Given the description of an element on the screen output the (x, y) to click on. 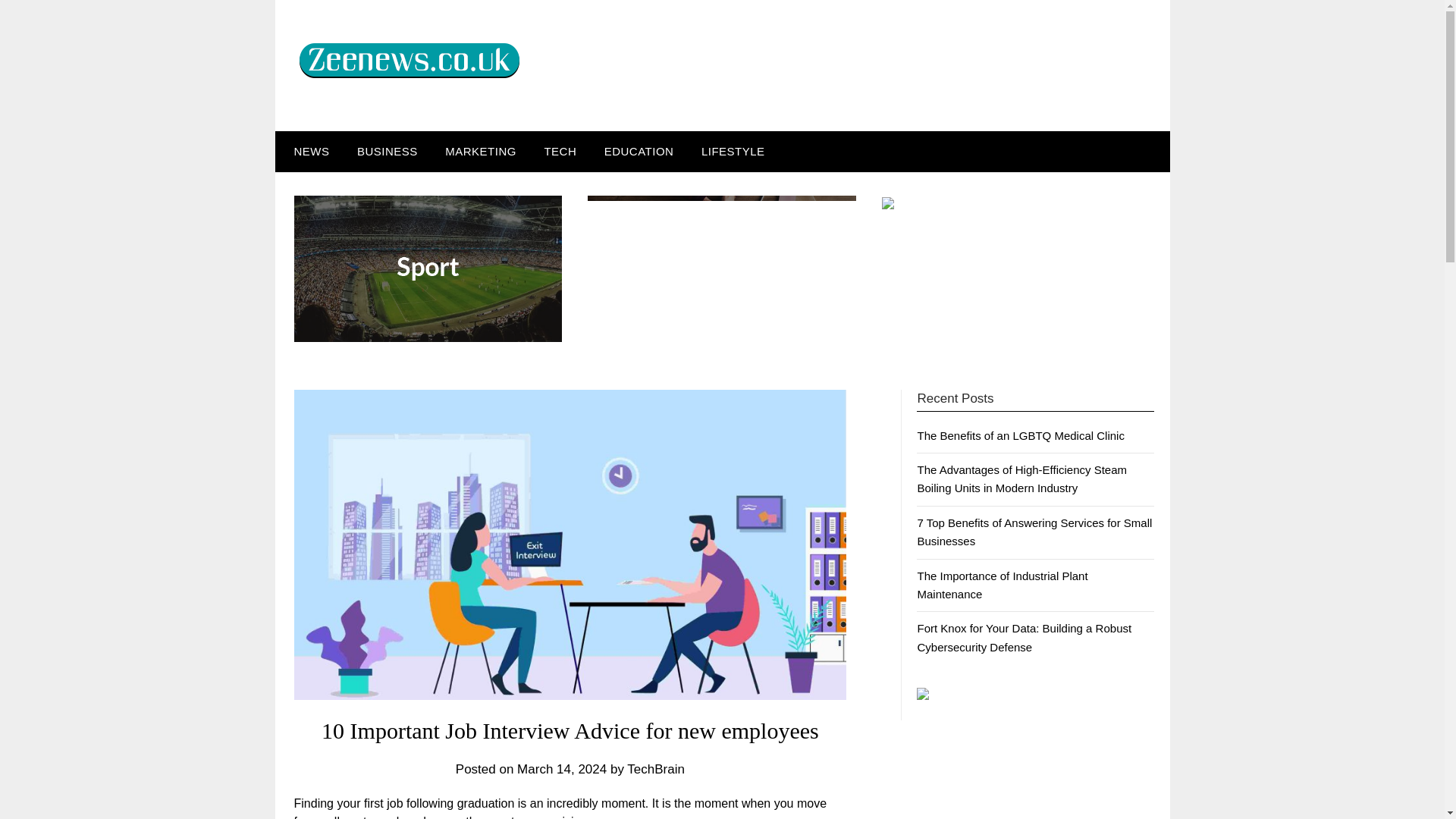
TechBrain (655, 768)
NEWS (307, 151)
EDUCATION (638, 151)
TECH (559, 151)
BUSINESS (387, 151)
LIFESTYLE (732, 151)
March 14, 2024 (561, 768)
MARKETING (480, 151)
7 Top Benefits of Answering Services for Small Businesses (1034, 531)
